Given the description of an element on the screen output the (x, y) to click on. 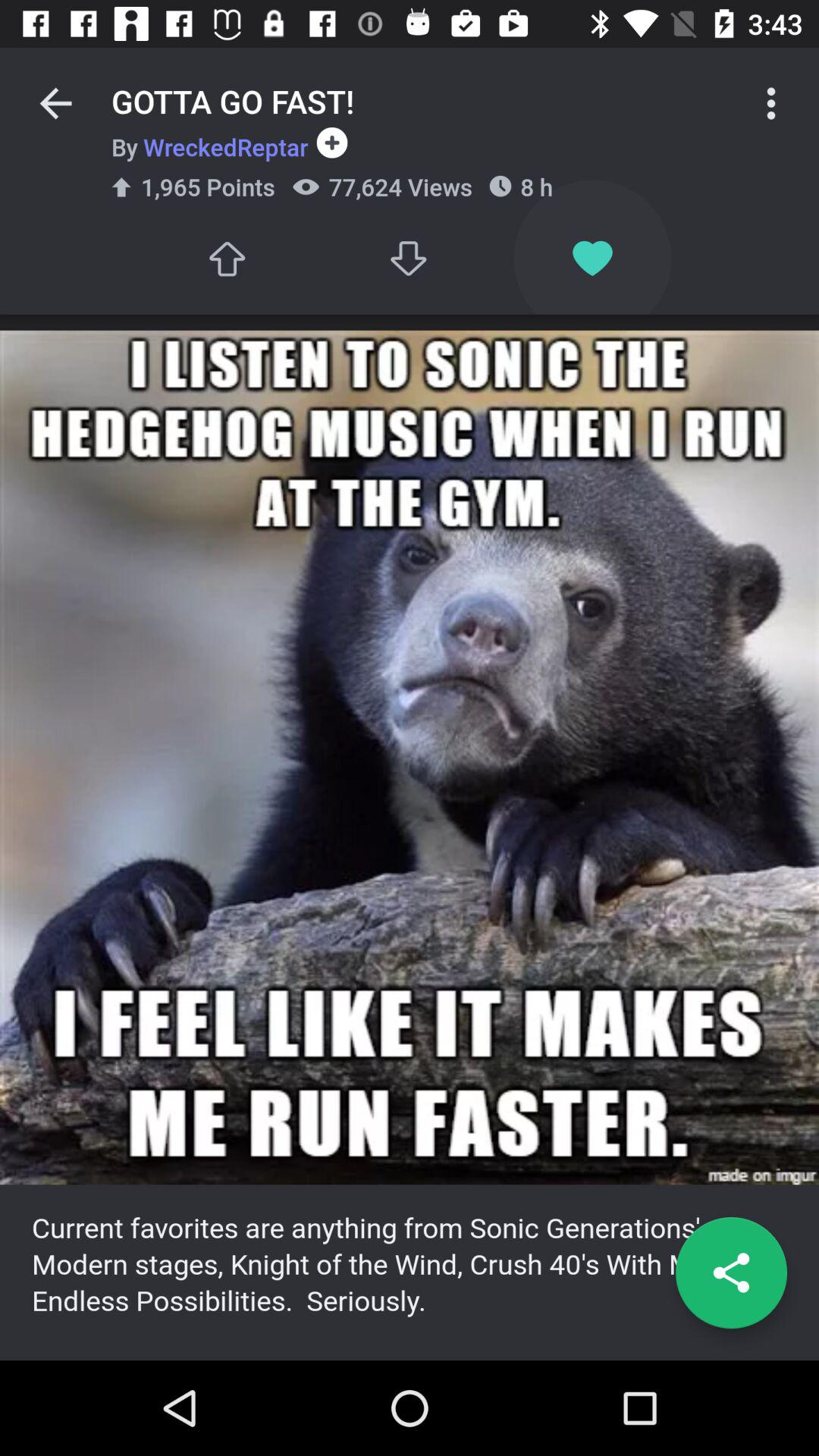
upvote (226, 258)
